Given the description of an element on the screen output the (x, y) to click on. 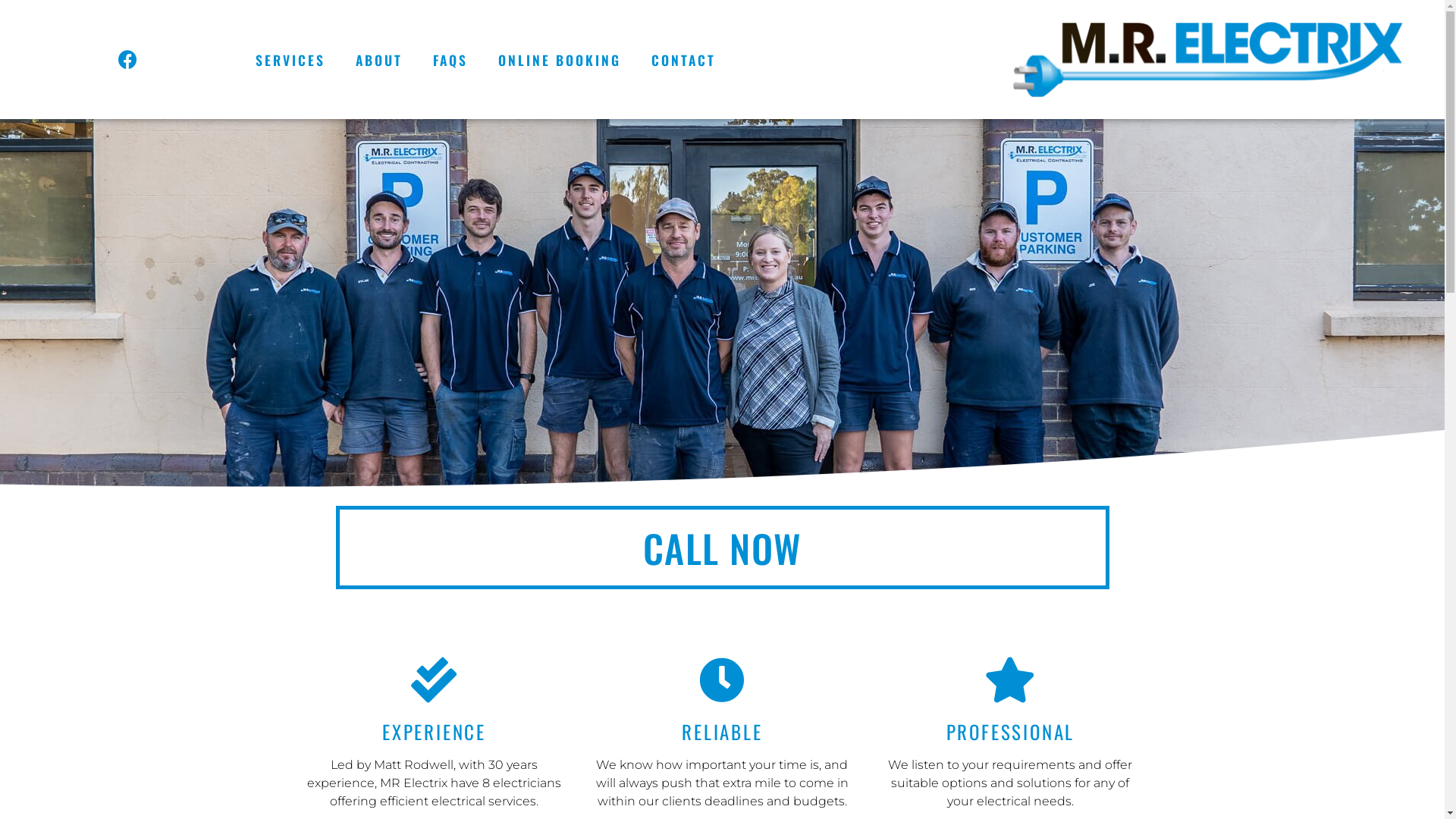
ONLINE BOOKING Element type: text (559, 59)
CONTACT Element type: text (683, 59)
SERVICES Element type: text (290, 59)
ABOUT Element type: text (378, 59)
FAQS Element type: text (450, 59)
CALL NOW Element type: text (721, 547)
